Given the description of an element on the screen output the (x, y) to click on. 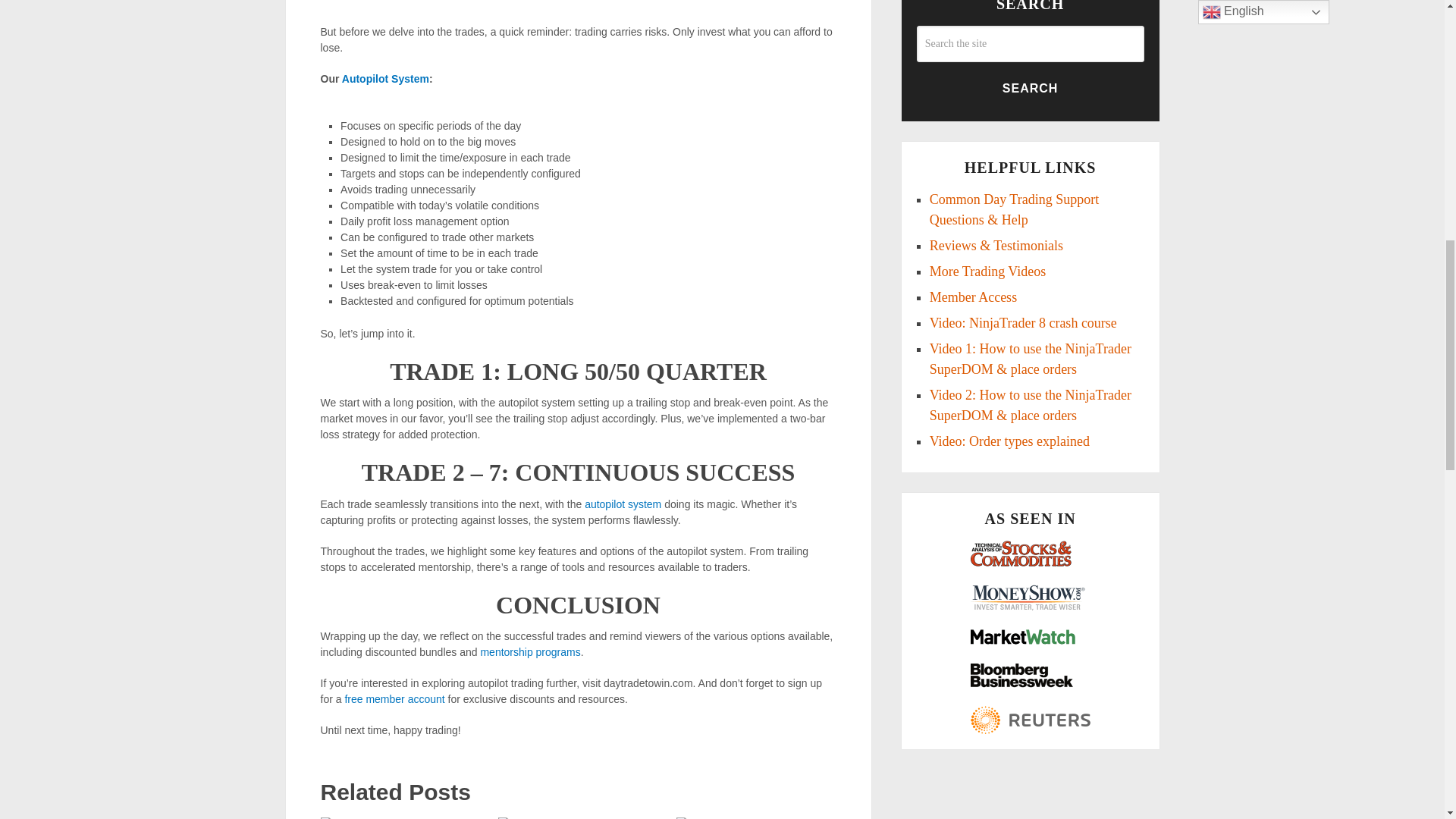
YouTube player (577, 4)
